Given the description of an element on the screen output the (x, y) to click on. 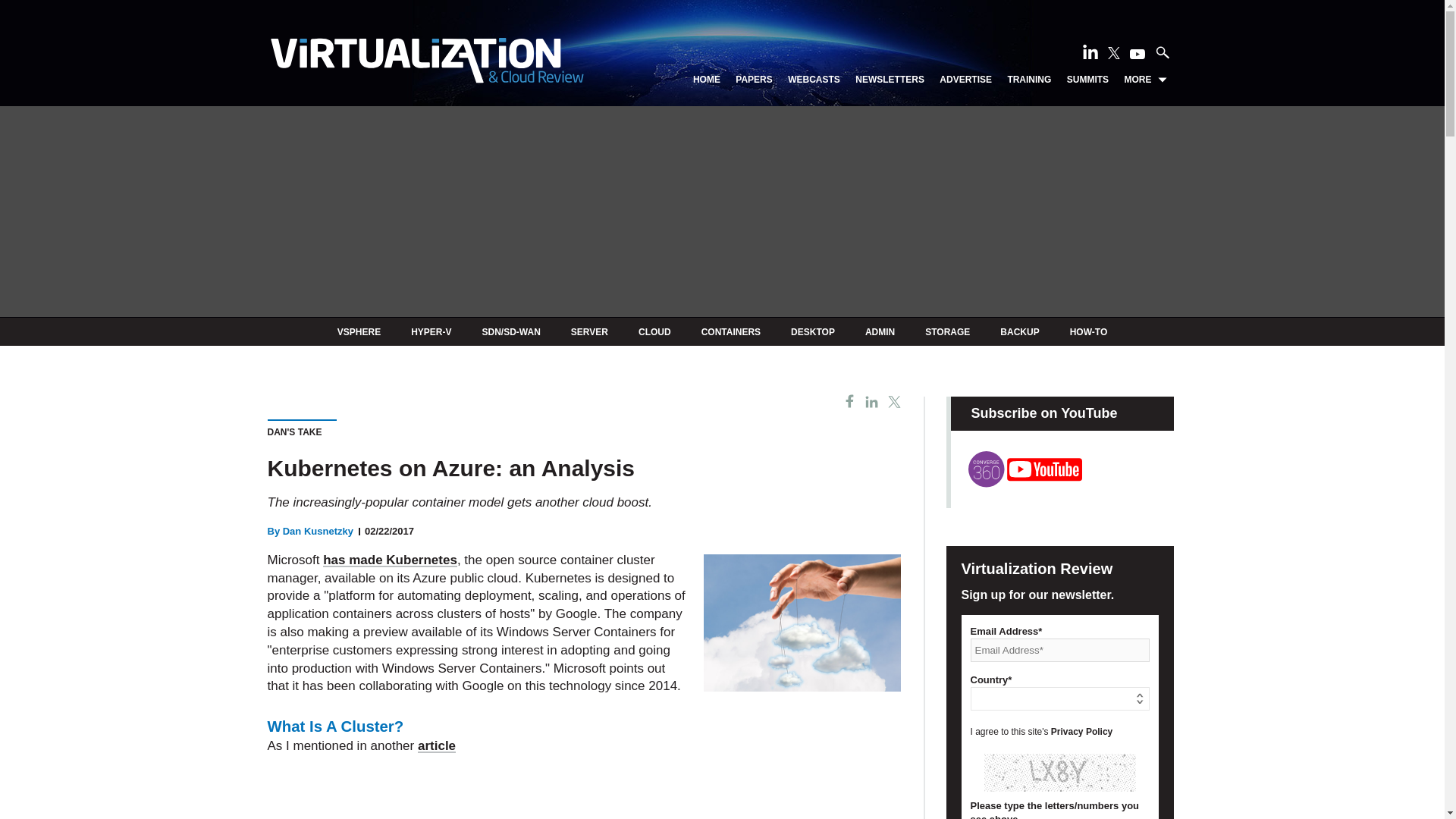
ADVERTISE (965, 79)
3rd party ad content (583, 787)
SERVER (589, 331)
WEBCASTS (813, 79)
PAPERS (753, 79)
VSPHERE (358, 331)
SUMMITS (1087, 79)
MORE (1145, 79)
HOME (706, 79)
